Given the description of an element on the screen output the (x, y) to click on. 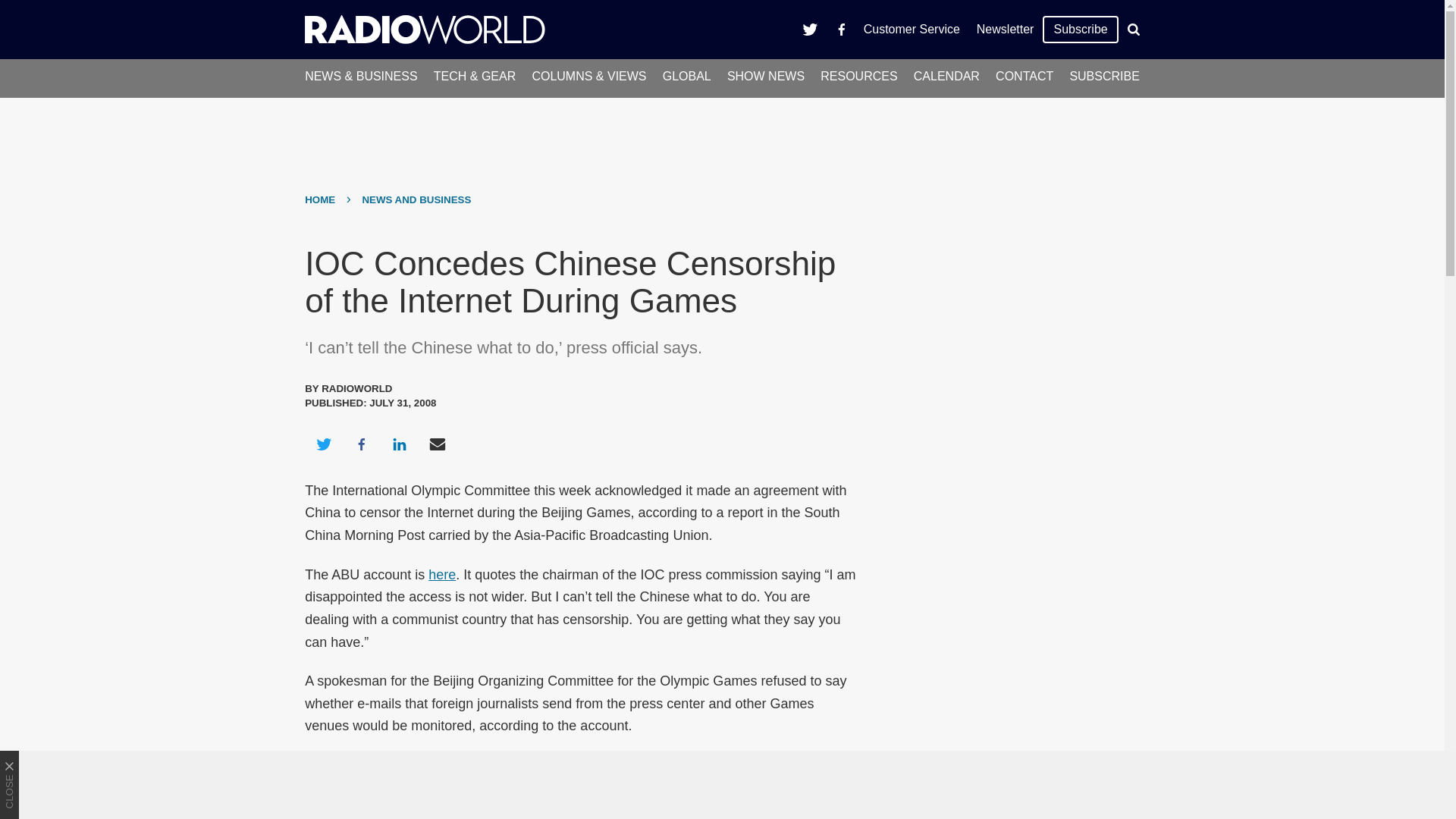
Share via Email (438, 444)
Share on LinkedIn (399, 444)
Share on Facebook (361, 444)
Share on Twitter (323, 444)
Customer Service (912, 29)
